Given the description of an element on the screen output the (x, y) to click on. 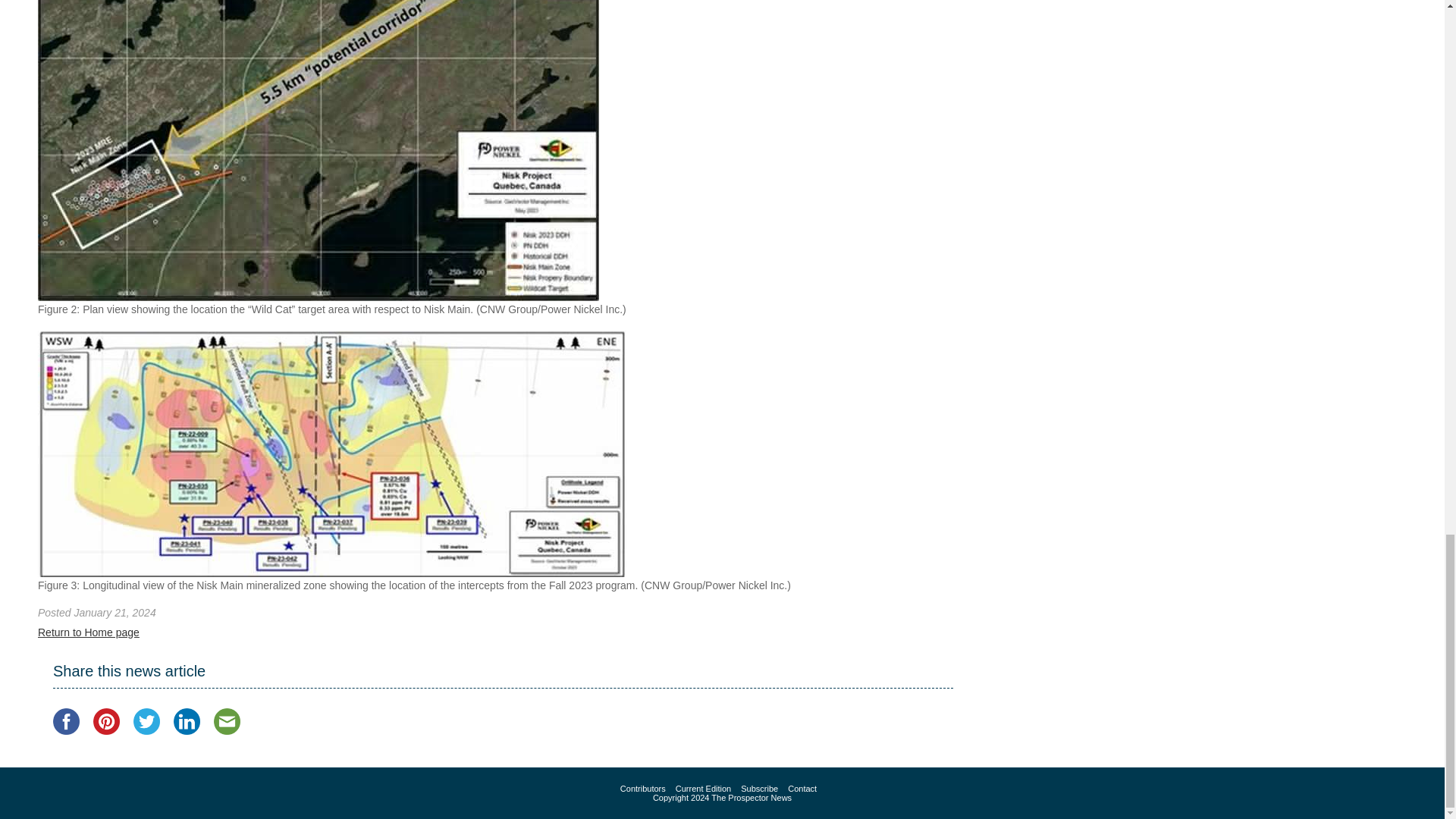
pinterest (106, 721)
facebook (66, 721)
Contributors (642, 788)
Current Edition (702, 788)
twitter (146, 721)
Return to Home page (88, 632)
